Given the description of an element on the screen output the (x, y) to click on. 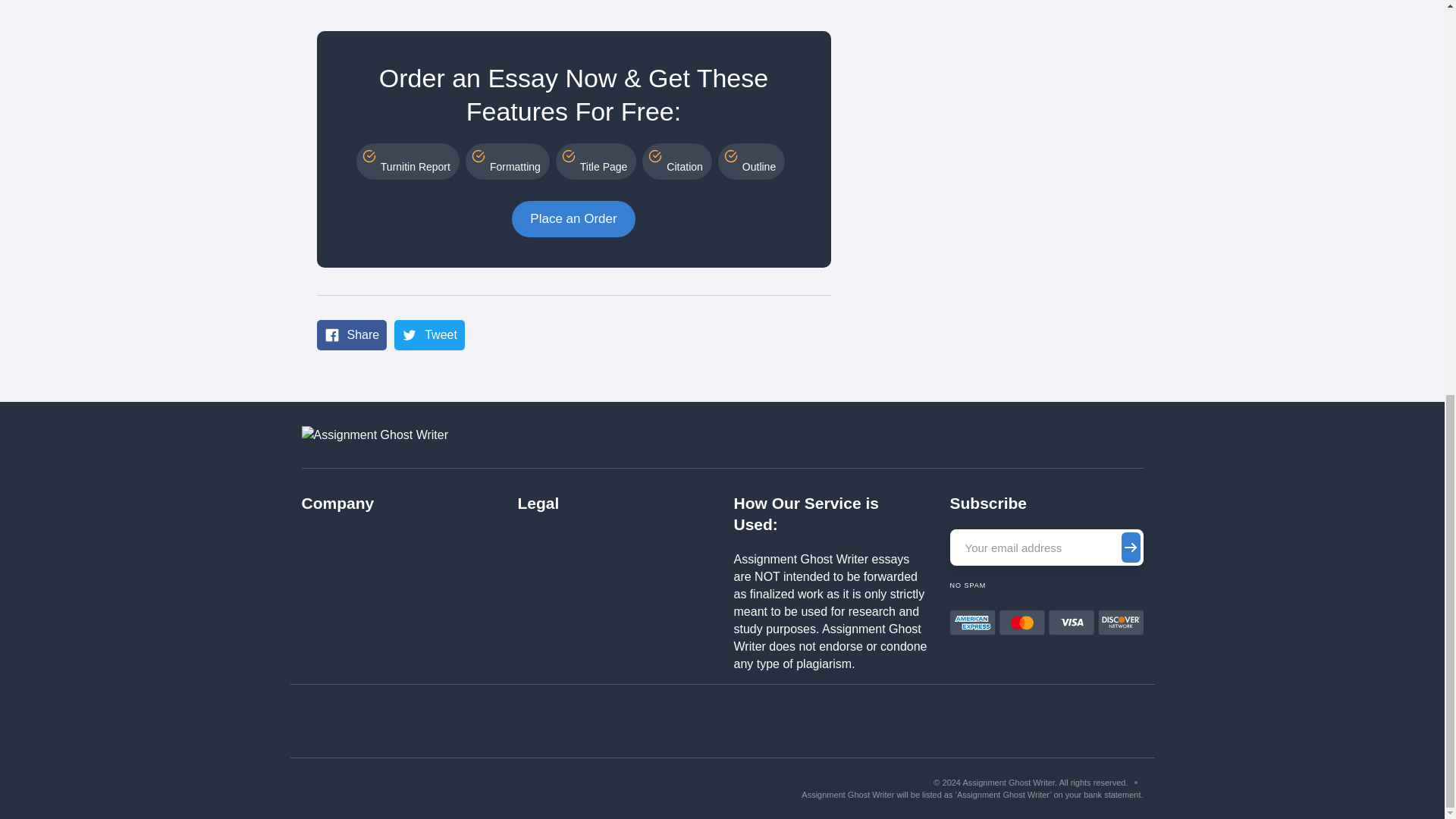
Place an Order (573, 218)
Share (352, 335)
Tweet (429, 335)
